Given the description of an element on the screen output the (x, y) to click on. 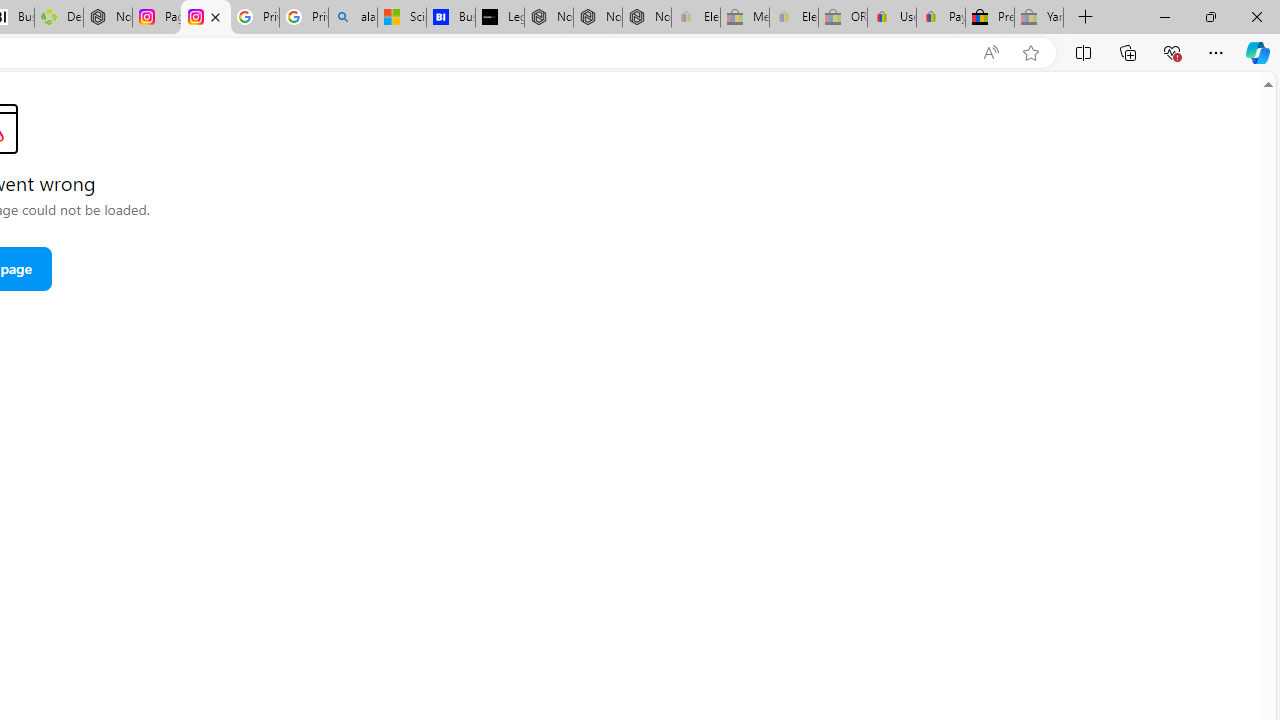
Yard, Garden & Outdoor Living - Sleeping (1039, 17)
Descarga Driver Updater (58, 17)
alabama high school quarterback dies - Search (353, 17)
Payments Terms of Use | eBay.com (940, 17)
